Given the description of an element on the screen output the (x, y) to click on. 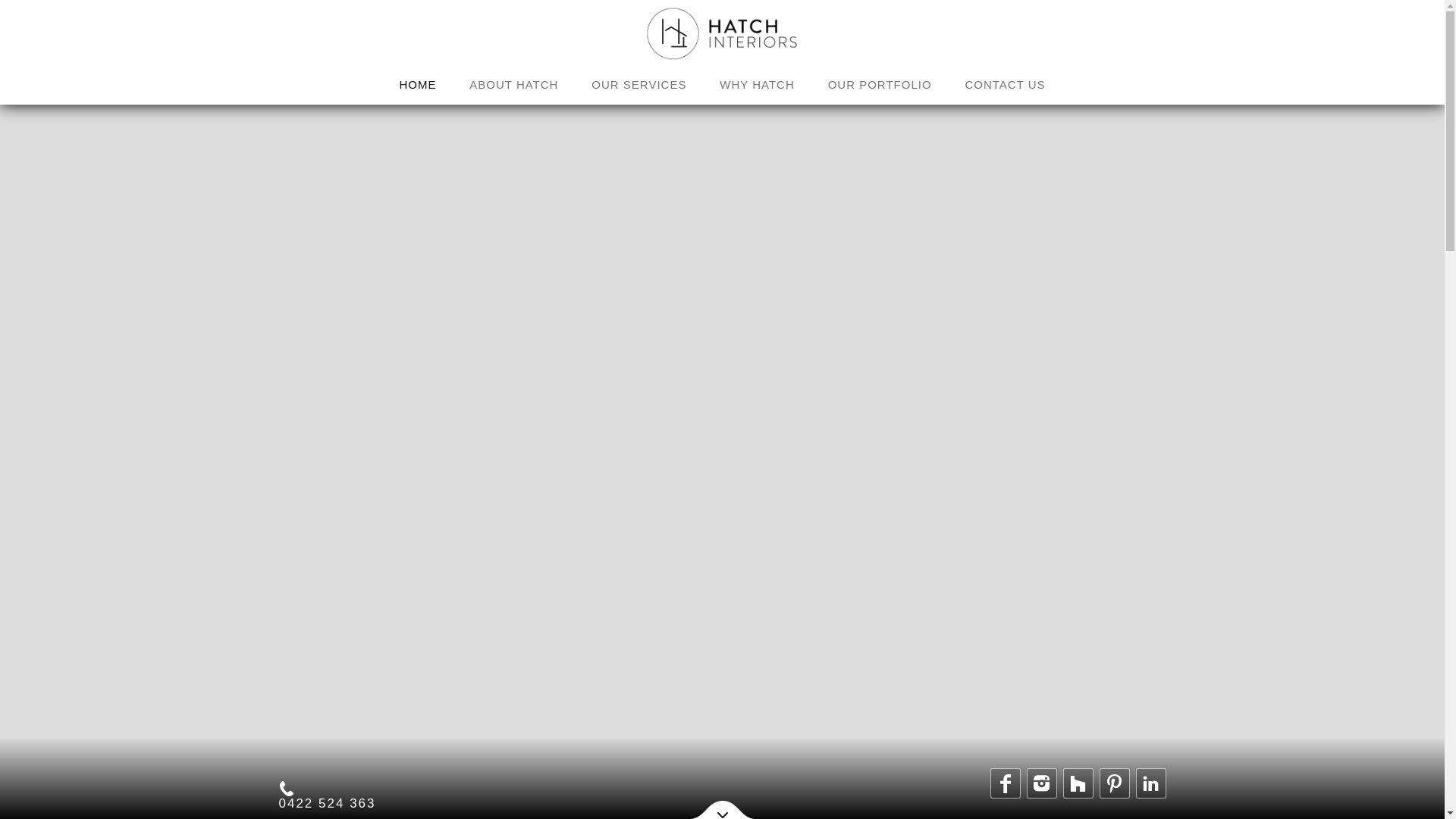
CONTACT US Element type: text (1004, 85)
0422 524 363 Element type: text (327, 803)
OUR SERVICES Element type: text (638, 85)
WHY HATCH Element type: text (756, 85)
OUR PORTFOLIO Element type: text (879, 85)
ABOUT HATCH Element type: text (513, 85)
HOME Element type: text (417, 85)
